Given the description of an element on the screen output the (x, y) to click on. 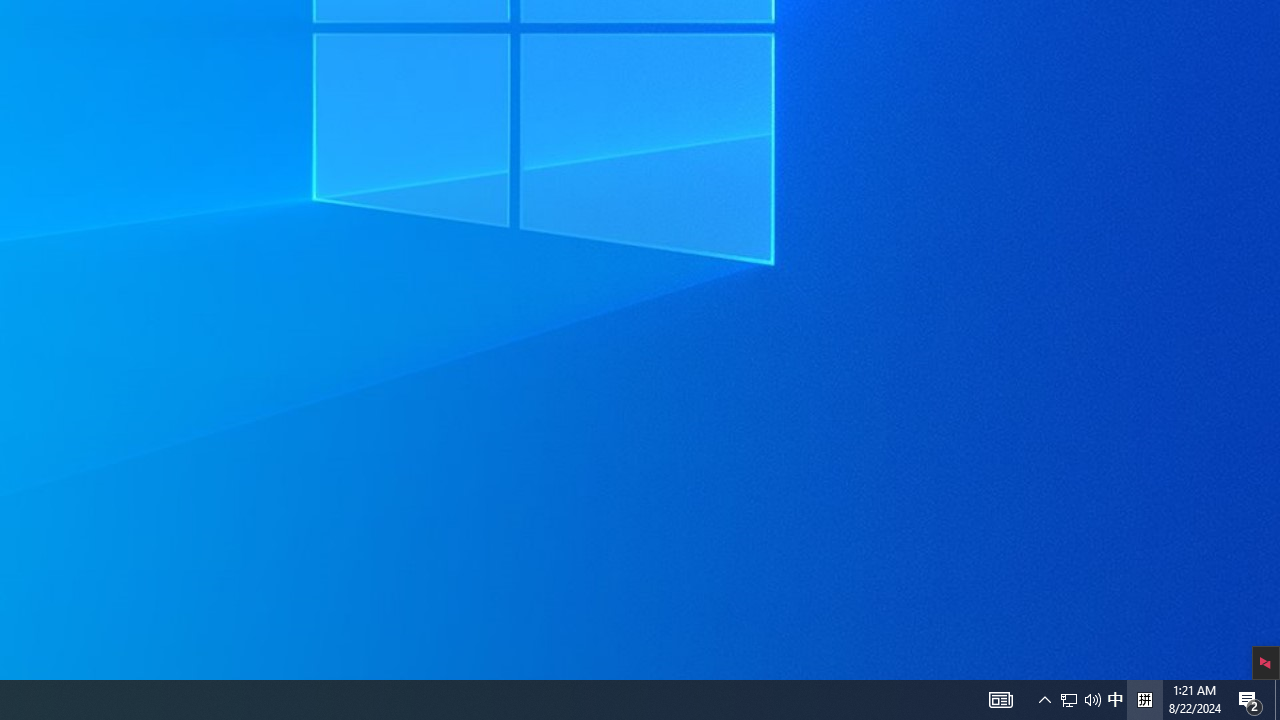
Show desktop (1277, 699)
Q2790: 100% (1092, 699)
Tray Input Indicator - Chinese (Simplified, China) (1144, 699)
Action Center, 2 new notifications (1069, 699)
Notification Chevron (1250, 699)
AutomationID: 4105 (1044, 699)
User Promoted Notification Area (1115, 699)
